Given the description of an element on the screen output the (x, y) to click on. 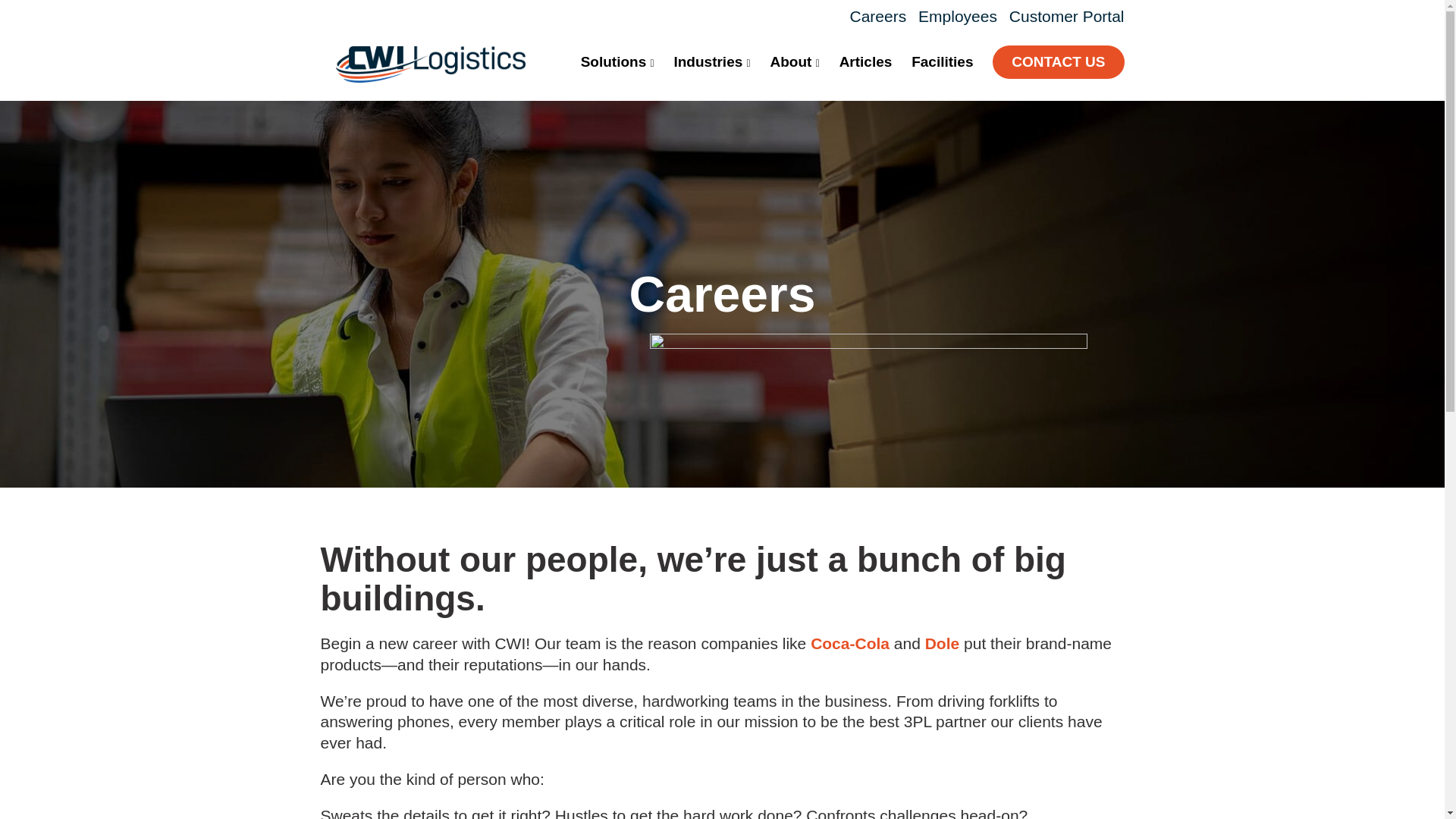
About (794, 62)
Customer Portal (1066, 16)
Employees (957, 16)
Careers (876, 16)
To Home (429, 76)
Solutions (616, 62)
Industries (710, 62)
